Given the description of an element on the screen output the (x, y) to click on. 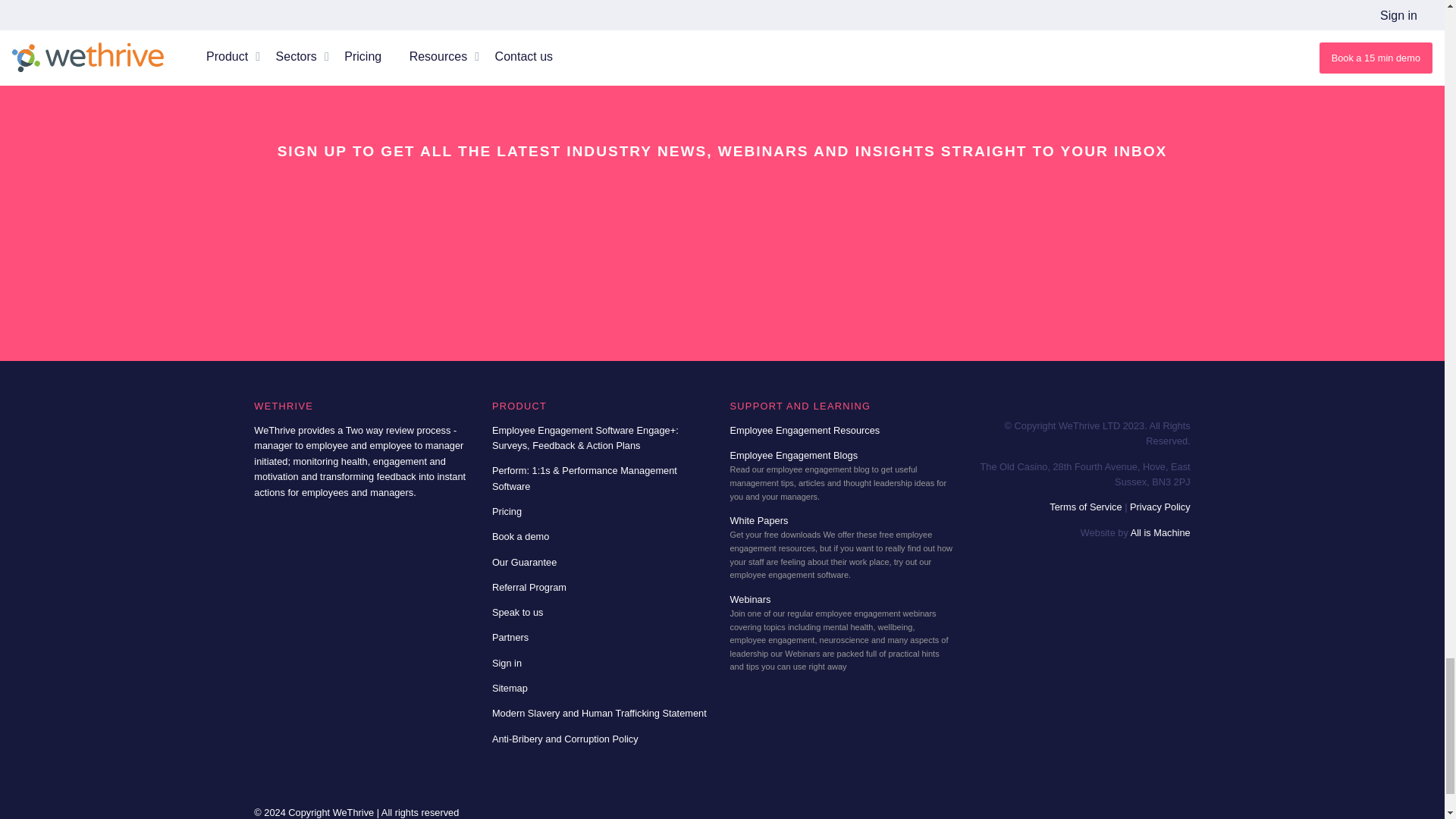
newsletter sign up wethrive (721, 228)
